Given the description of an element on the screen output the (x, y) to click on. 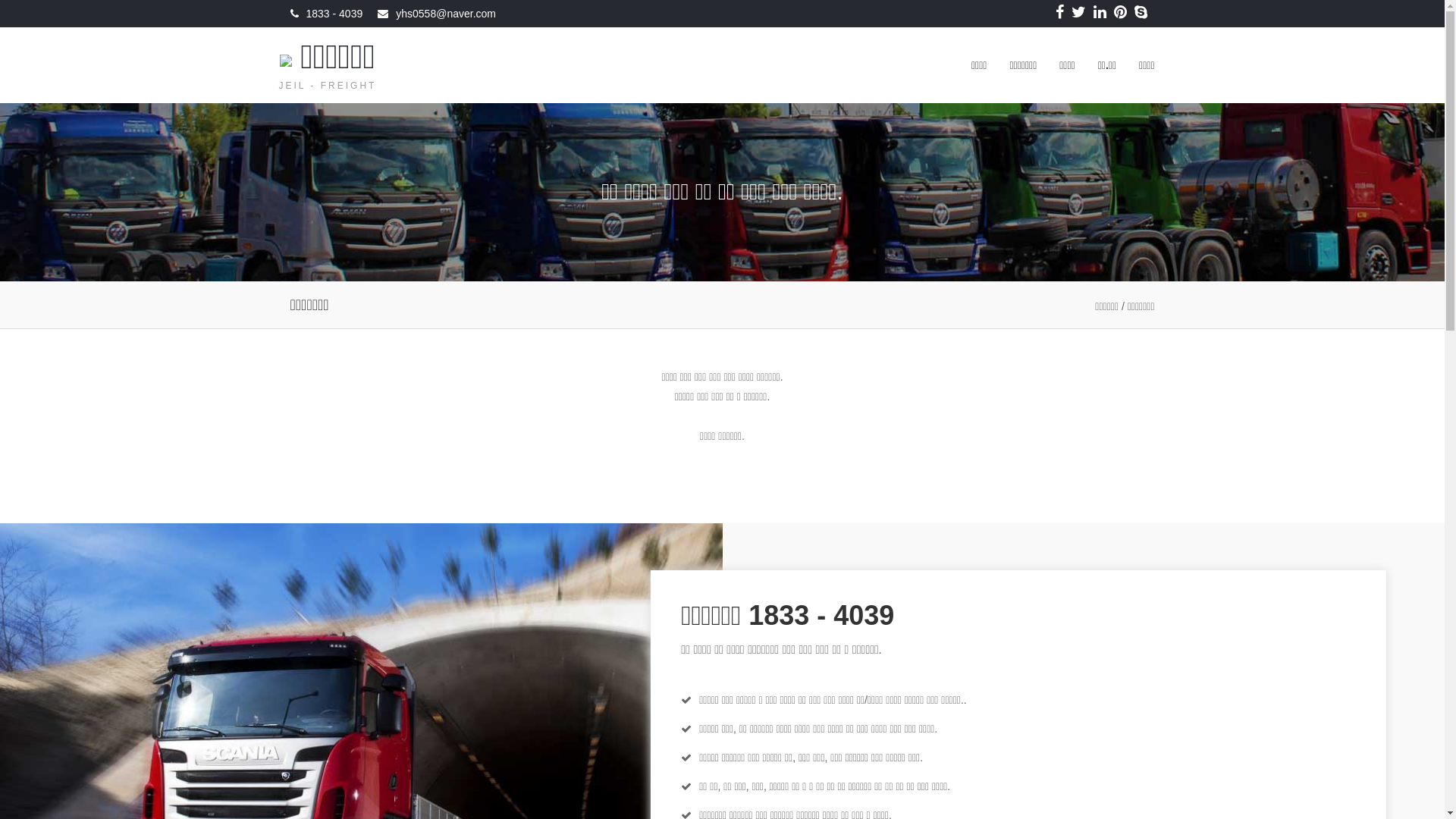
yhs0558@naver.com Element type: text (445, 13)
1833 - 4039 Element type: text (334, 13)
